Given the description of an element on the screen output the (x, y) to click on. 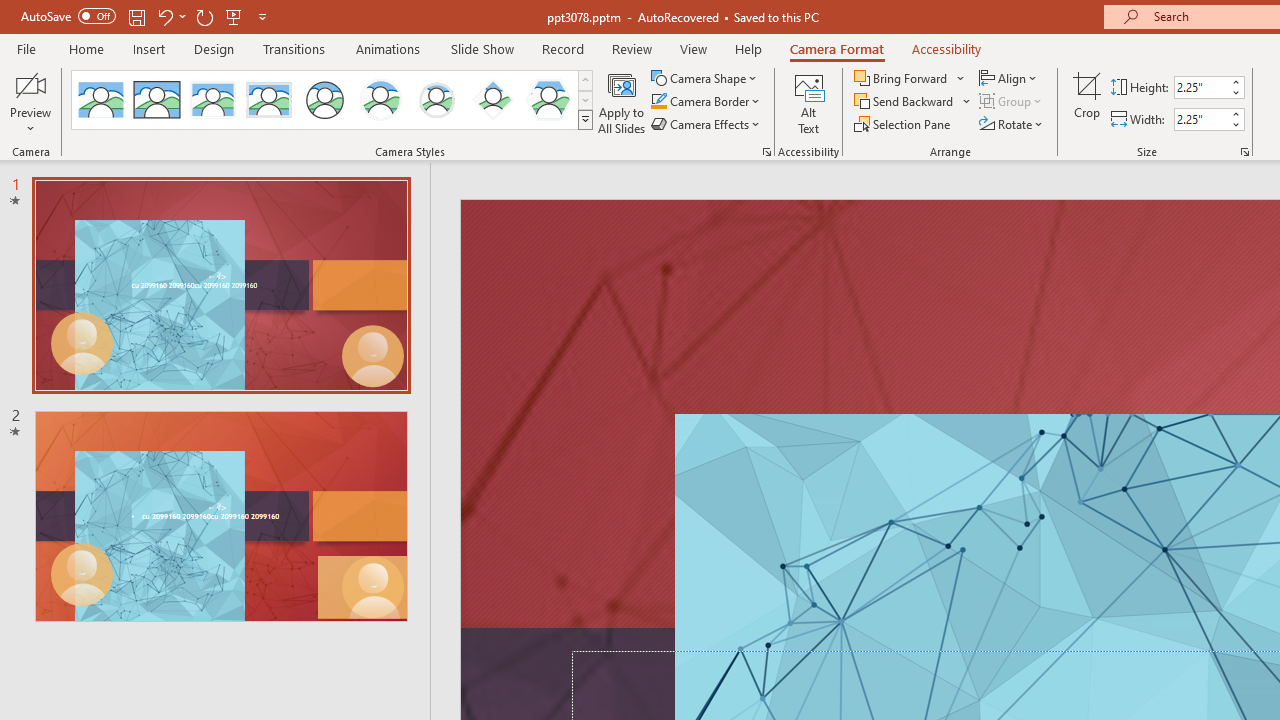
Camera Styles (585, 120)
Soft Edge Circle (436, 100)
Soft Edge Rectangle (268, 100)
Camera Format (836, 48)
Camera Border Green, Accent 1 (658, 101)
Crop (1087, 102)
